Given the description of an element on the screen output the (x, y) to click on. 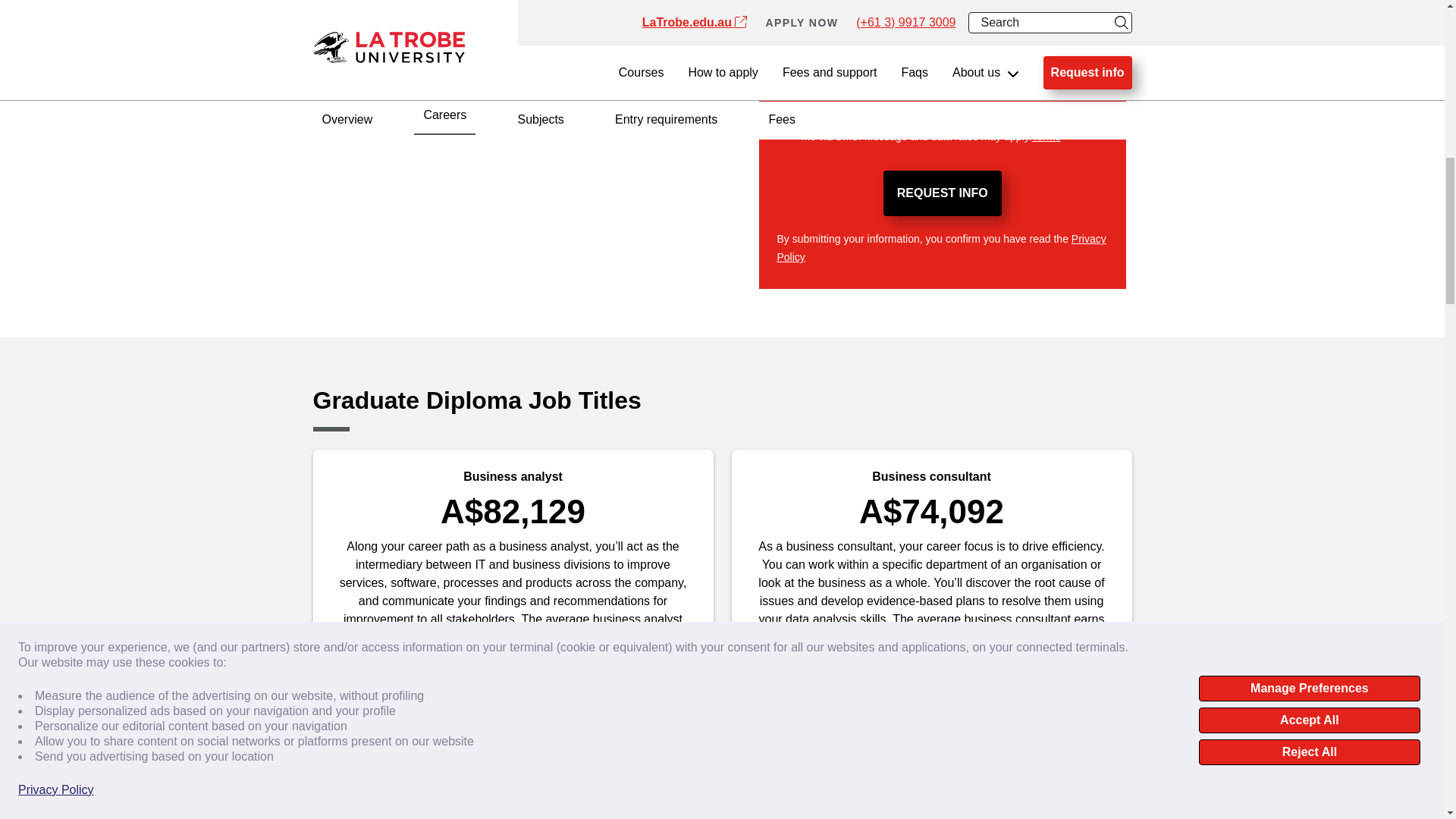
Terms (1044, 136)
REQUEST INFO (942, 193)
on (784, 123)
Privacy Policy (940, 247)
